Given the description of an element on the screen output the (x, y) to click on. 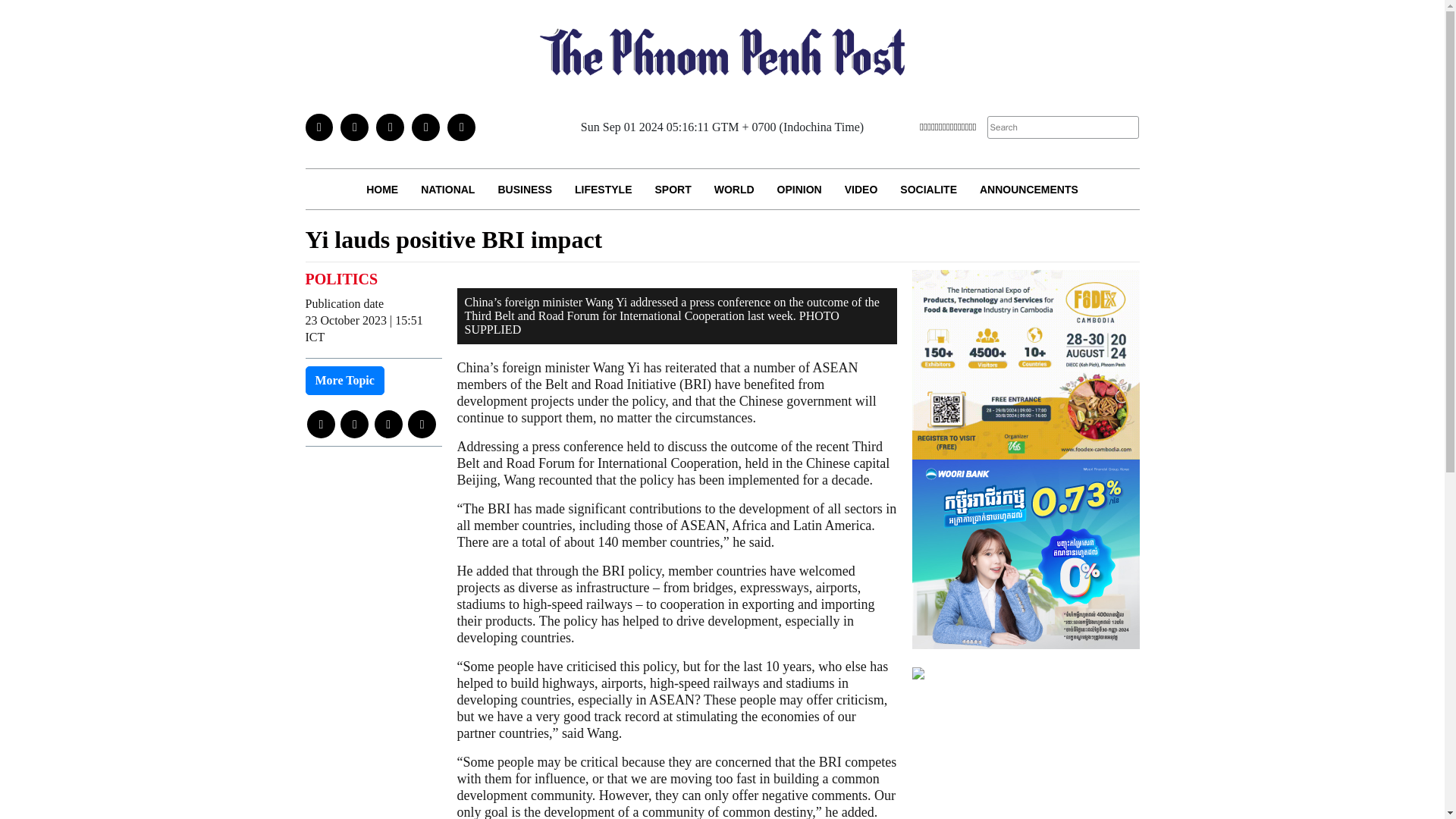
HOME (382, 188)
ANNOUNCEMENTS (1028, 188)
OPINION (798, 188)
VIDEO (860, 188)
SOCIALITE (928, 188)
NATIONAL (447, 188)
BUSINESS (524, 188)
WORLD (734, 188)
More Topic (344, 380)
LIFESTYLE (603, 188)
